Given the description of an element on the screen output the (x, y) to click on. 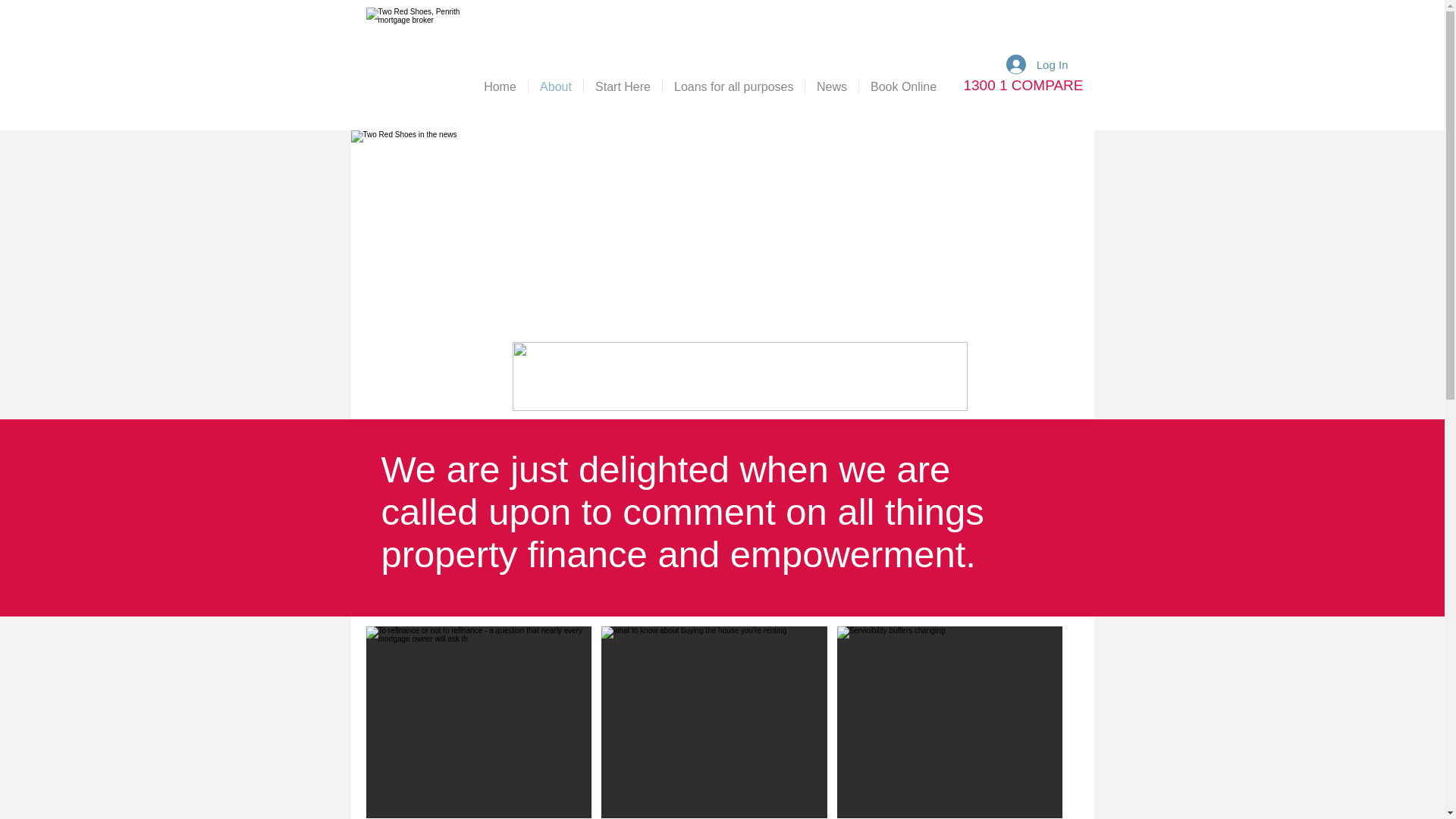
Home (499, 86)
Start Here (622, 86)
Book Online (903, 86)
News (832, 86)
Loans for all purposes (733, 86)
About (555, 86)
